Given the description of an element on the screen output the (x, y) to click on. 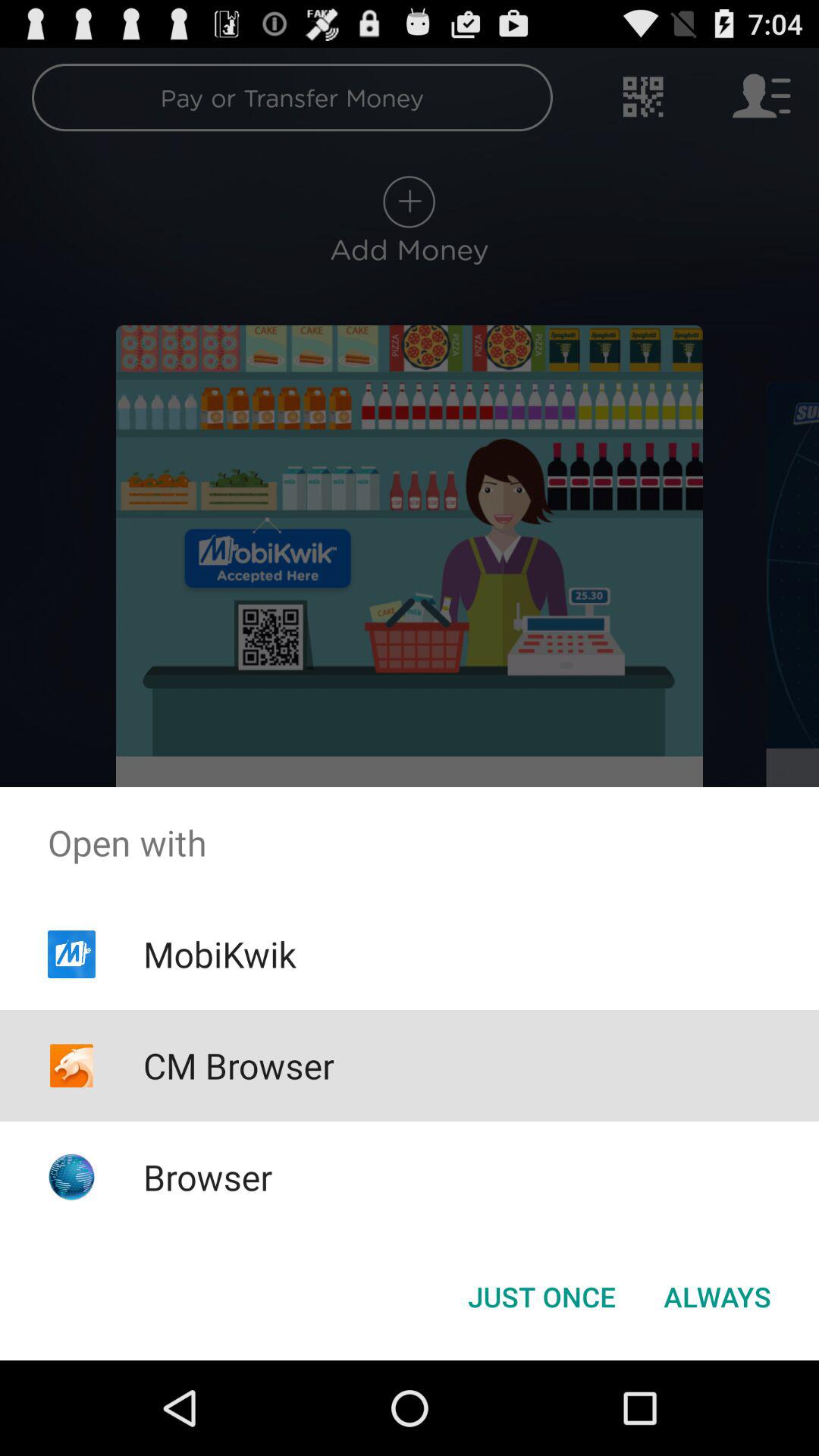
click app above cm browser app (219, 953)
